Given the description of an element on the screen output the (x, y) to click on. 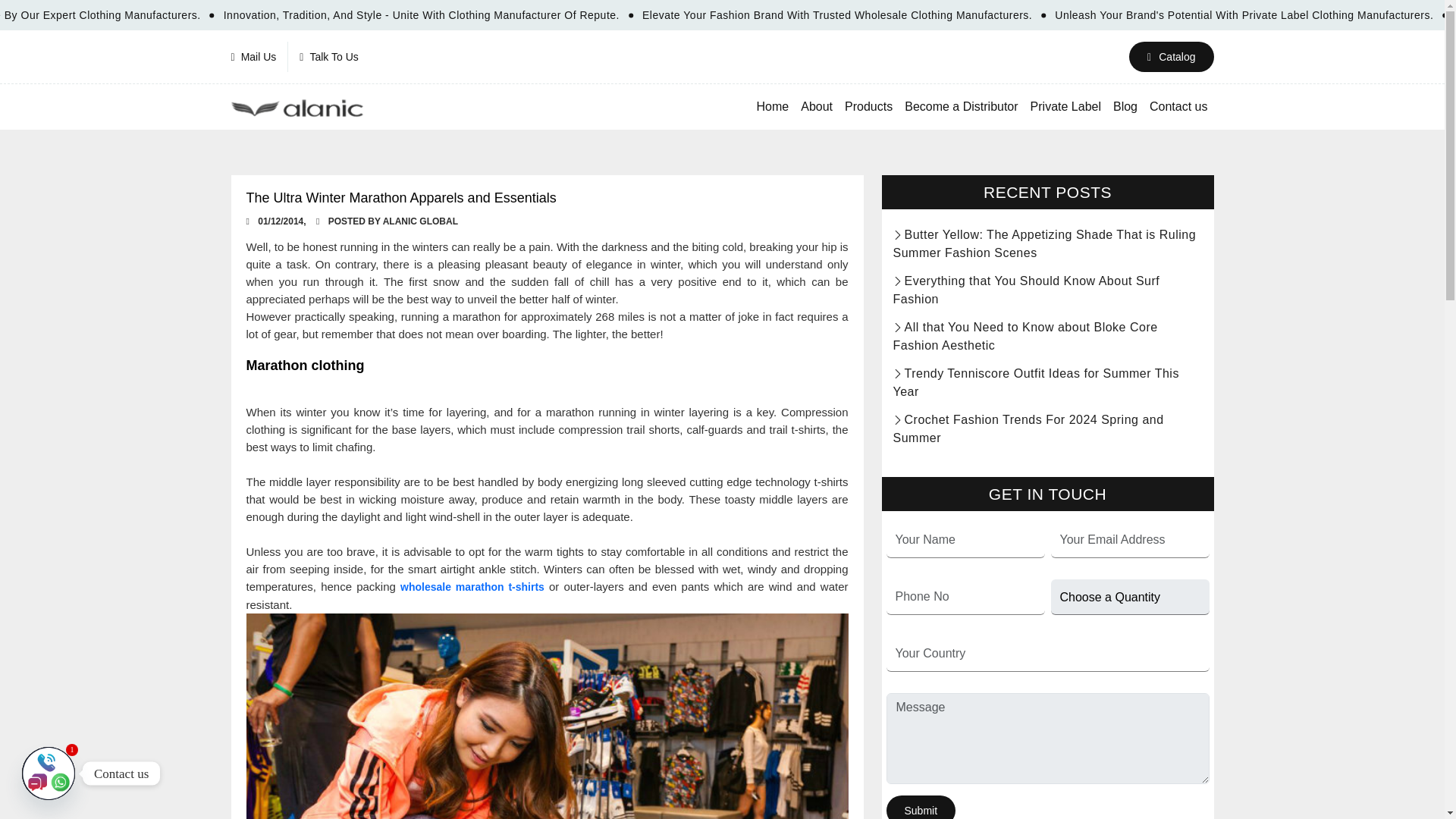
Catalog (1170, 56)
Home (772, 106)
Home (772, 106)
Talk To Us (328, 56)
Products (868, 106)
Mail Us (259, 56)
submit (920, 807)
Products (868, 106)
About (816, 106)
About (816, 106)
